Given the description of an element on the screen output the (x, y) to click on. 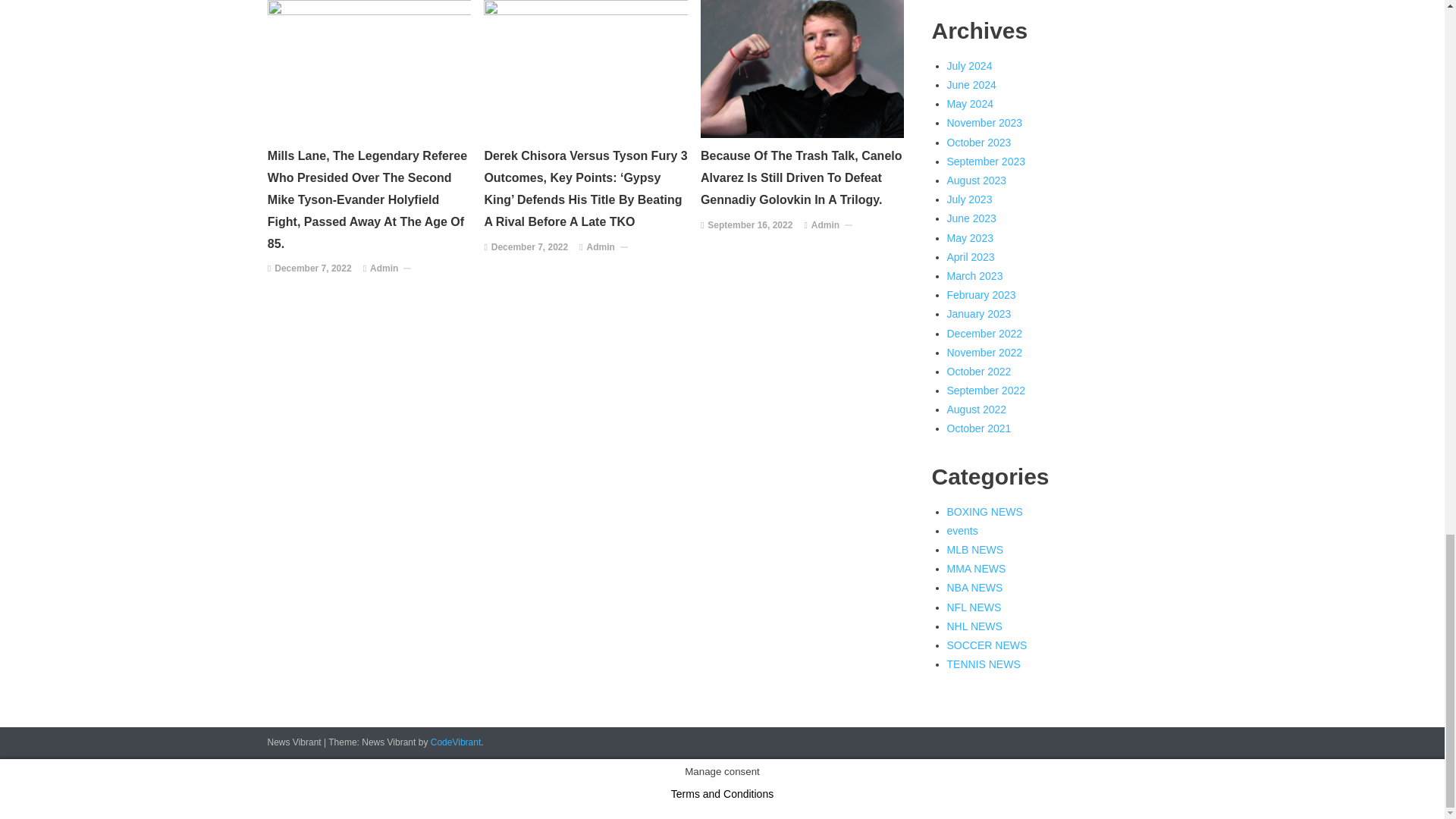
December 7, 2022 (529, 247)
May 2024 (969, 103)
Admin (600, 247)
Admin (825, 225)
December 7, 2022 (312, 269)
Admin (383, 269)
September 16, 2022 (749, 225)
July 2024 (968, 65)
